Given the description of an element on the screen output the (x, y) to click on. 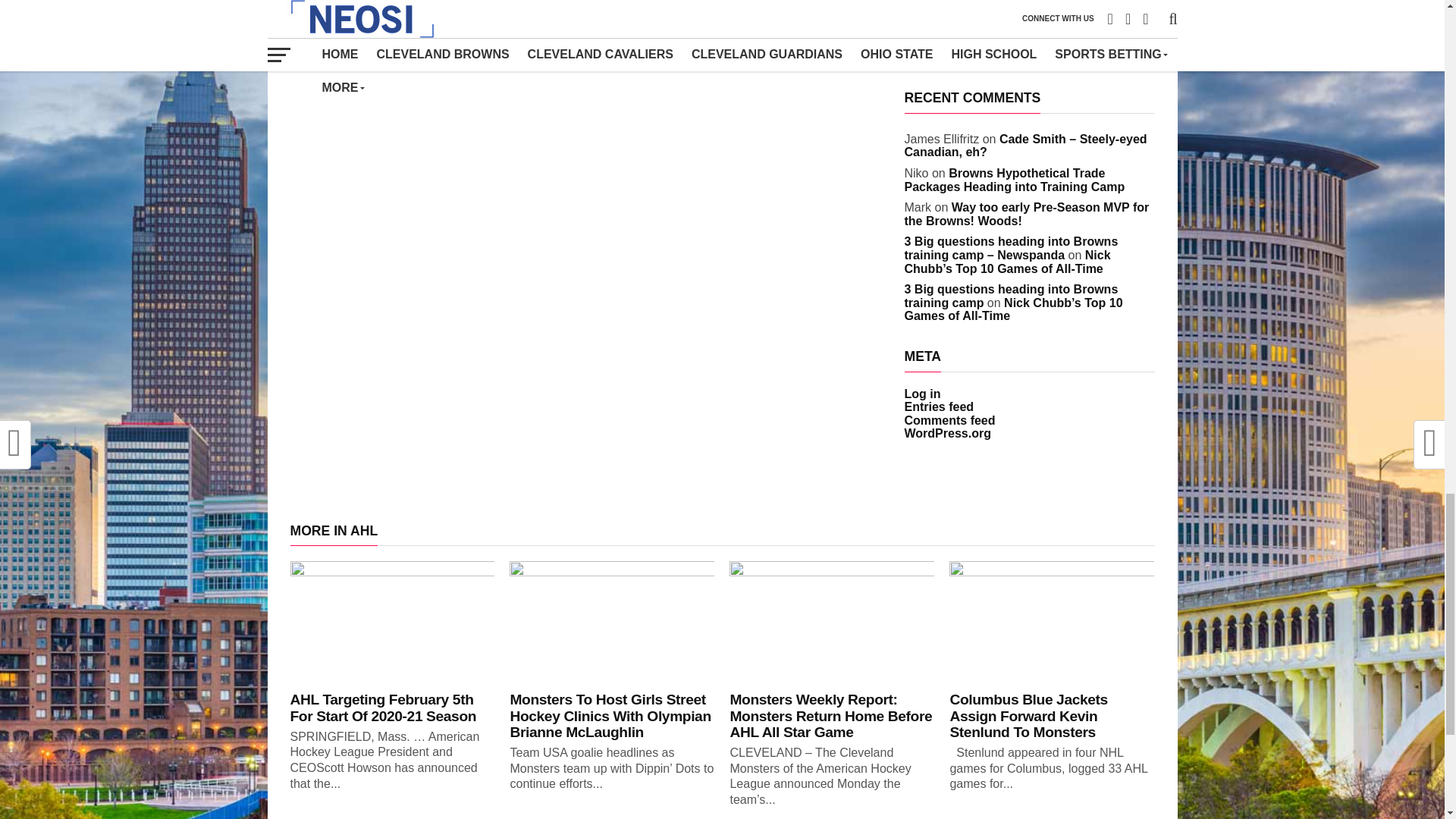
Subscribe (932, 59)
